Given the description of an element on the screen output the (x, y) to click on. 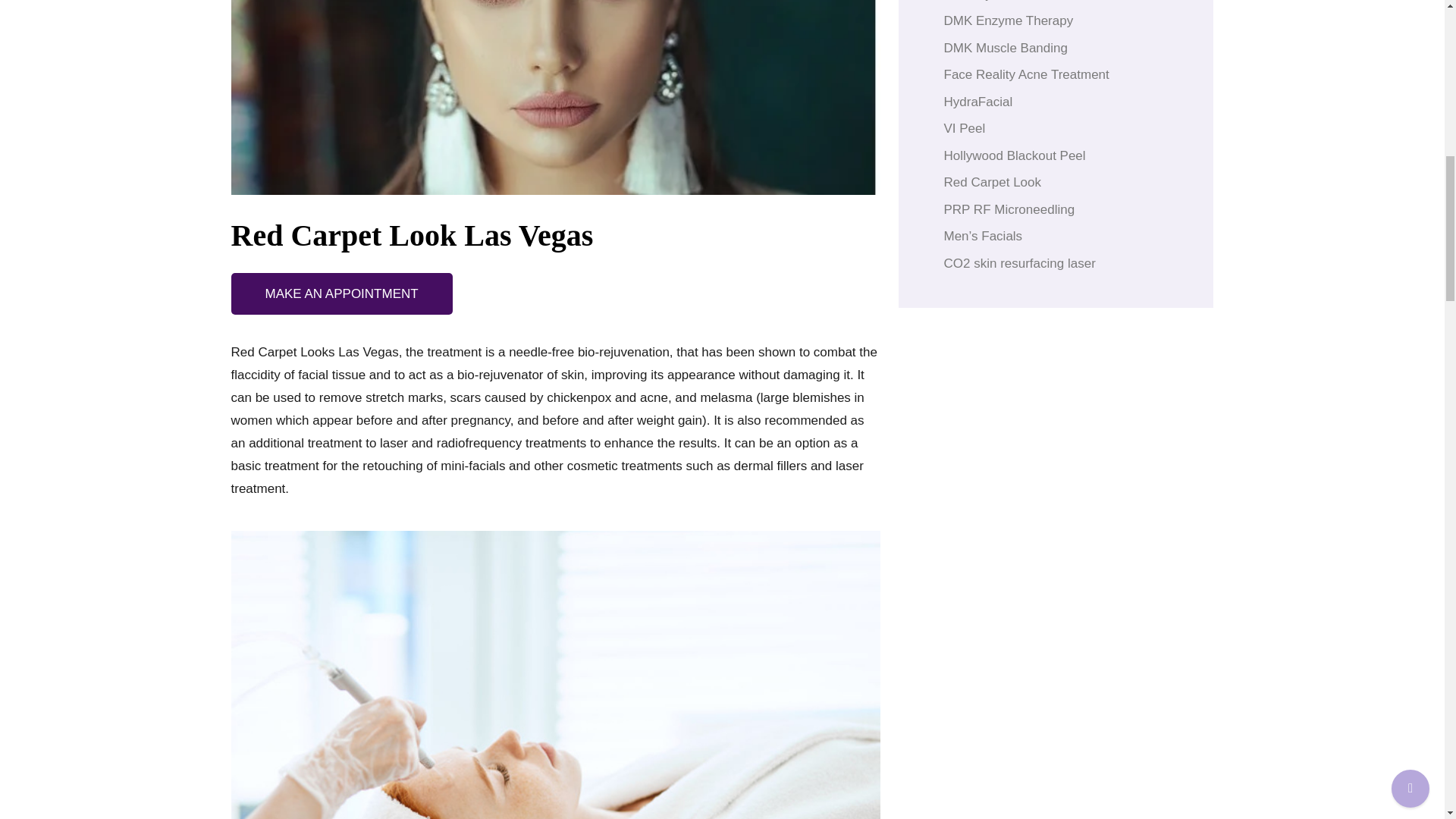
MAKE AN APPOINTMENT (340, 293)
